Given the description of an element on the screen output the (x, y) to click on. 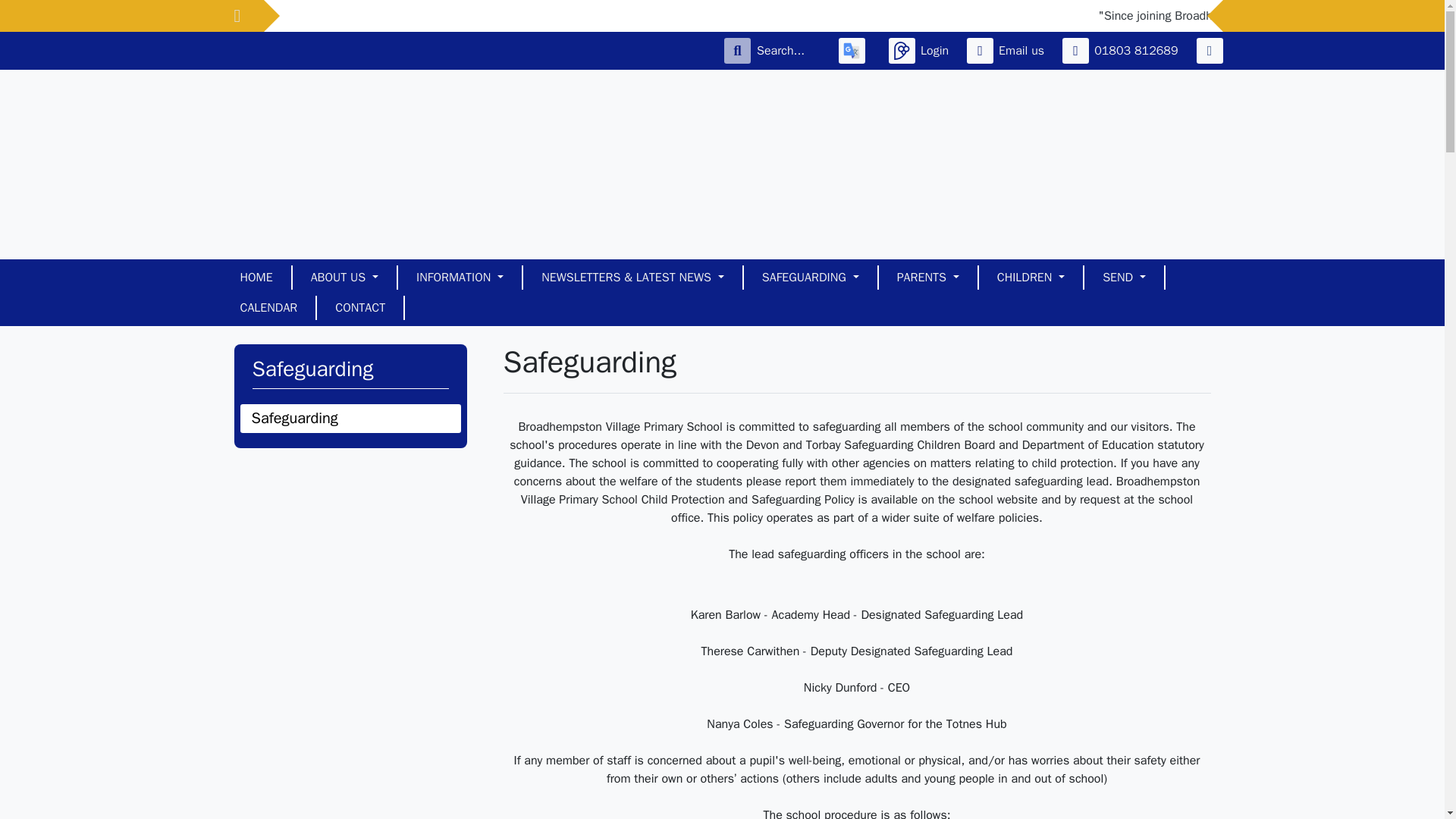
01803 812689 (1122, 50)
Email us (1007, 50)
Login (921, 50)
